Given the description of an element on the screen output the (x, y) to click on. 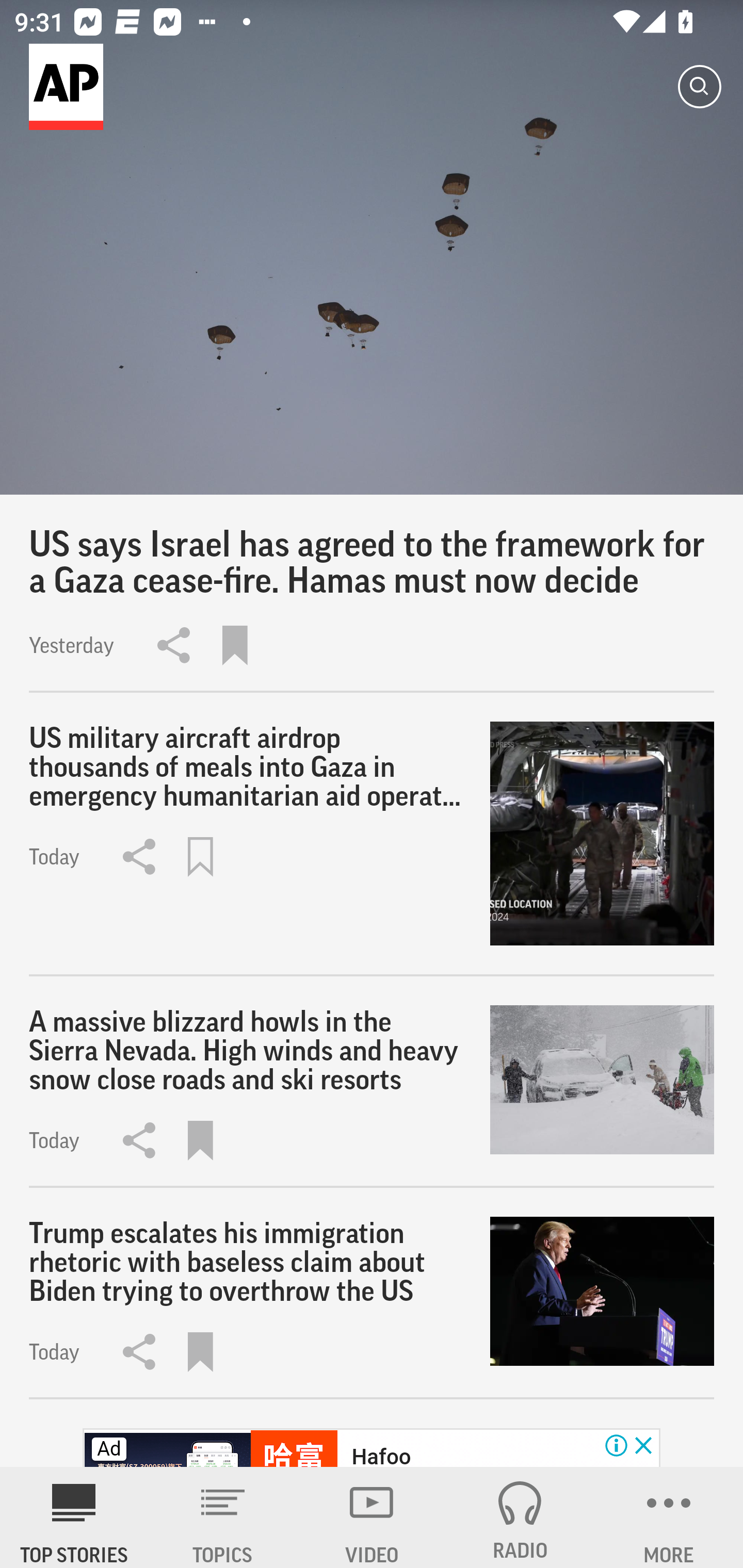
Hafoo (381, 1454)
AP News TOP STORIES (74, 1517)
TOPICS (222, 1517)
VIDEO (371, 1517)
RADIO (519, 1517)
MORE (668, 1517)
